Given the description of an element on the screen output the (x, y) to click on. 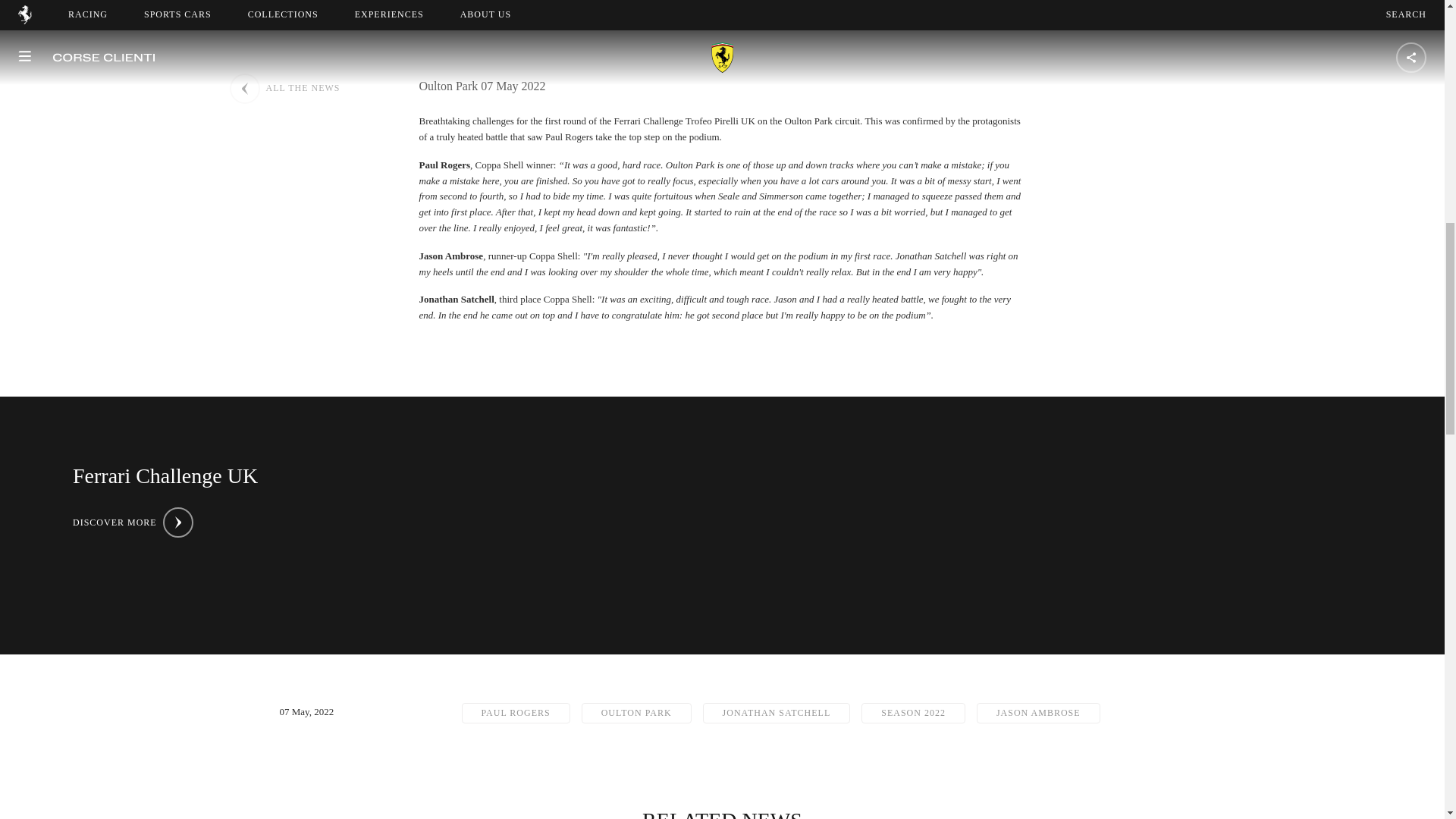
OULTON PARK (635, 712)
JASON AMBROSE (1038, 712)
PAUL ROGERS (515, 712)
JONATHAN SATCHELL (776, 712)
SEASON 2022 (913, 712)
